Given the description of an element on the screen output the (x, y) to click on. 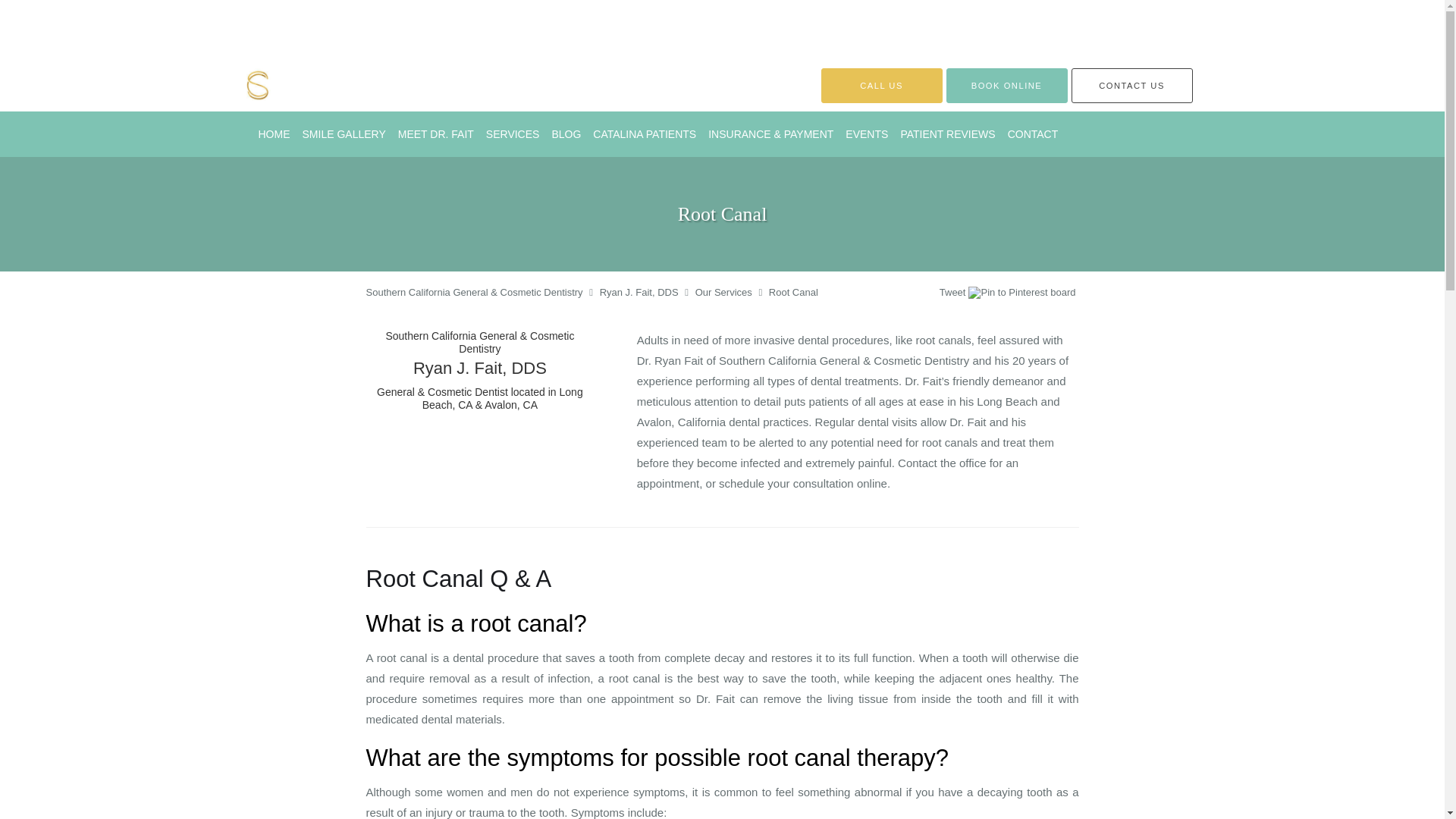
EVENTS (866, 134)
SMILE GALLERY (343, 134)
Facebook social button (880, 294)
Tweet (952, 292)
HOME (273, 134)
CONTACT US (1131, 85)
PATIENT REVIEWS (947, 134)
BLOG (565, 134)
BOOK ONLINE (1006, 85)
SERVICES (513, 134)
